Given the description of an element on the screen output the (x, y) to click on. 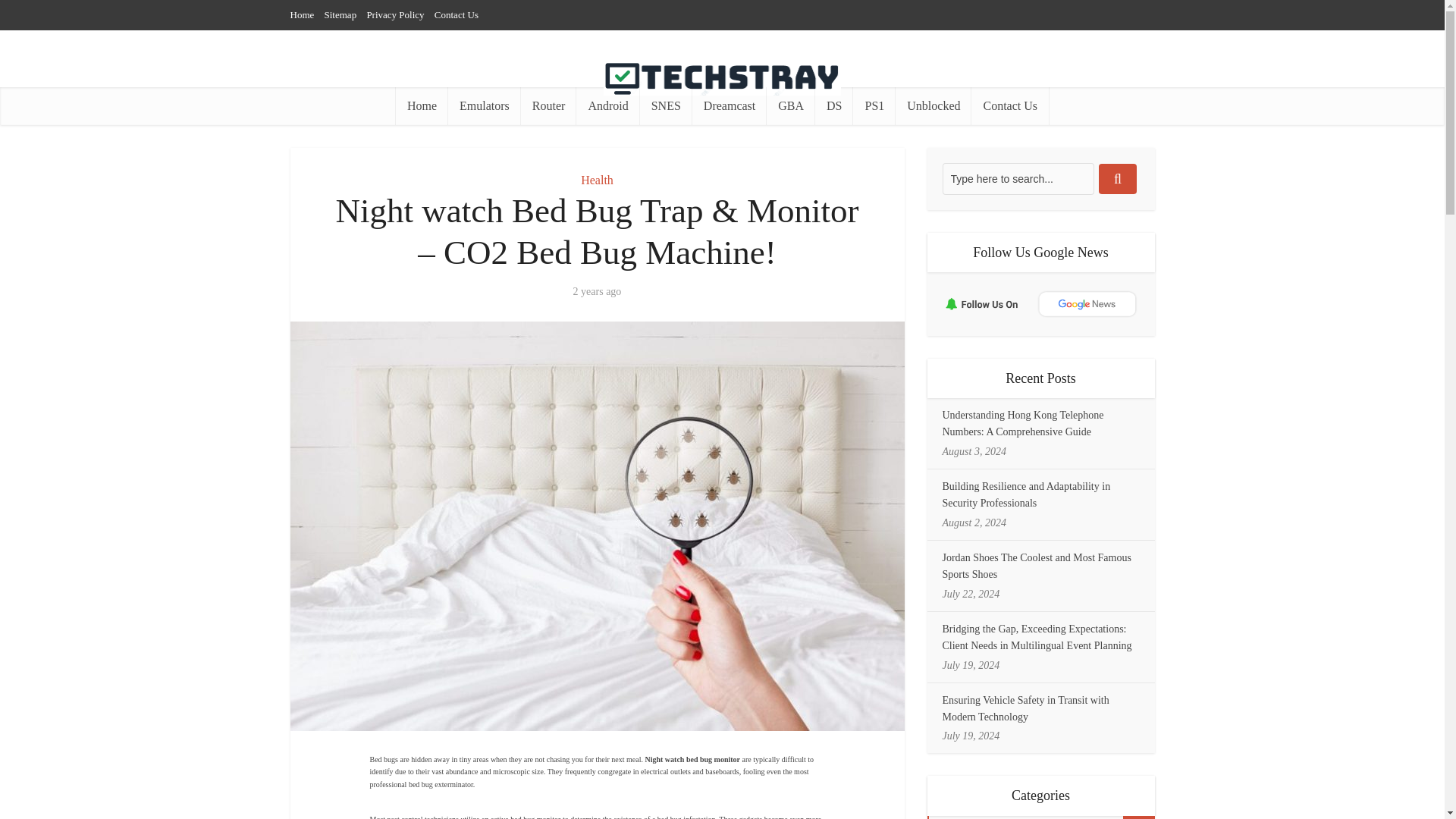
Android (607, 105)
Type here to search... (1017, 178)
Type here to search... (1017, 178)
GBA (791, 105)
Dreamcast (730, 105)
Home (301, 14)
Privacy Policy (394, 14)
Emulators (484, 105)
Unblocked (933, 105)
DS (834, 105)
